Given the description of an element on the screen output the (x, y) to click on. 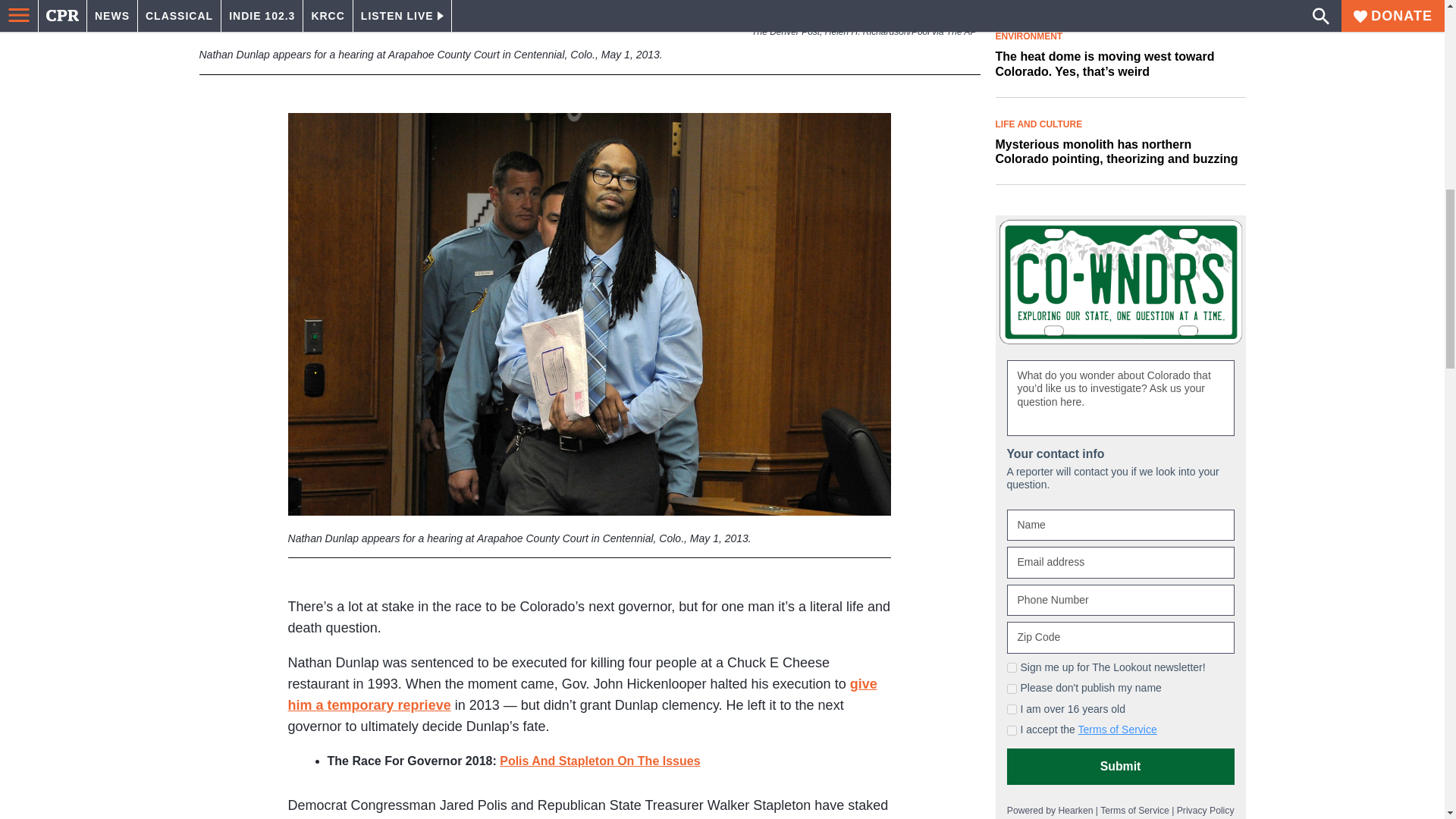
on (1011, 667)
on (1011, 730)
on (1011, 709)
on (1011, 688)
